Given the description of an element on the screen output the (x, y) to click on. 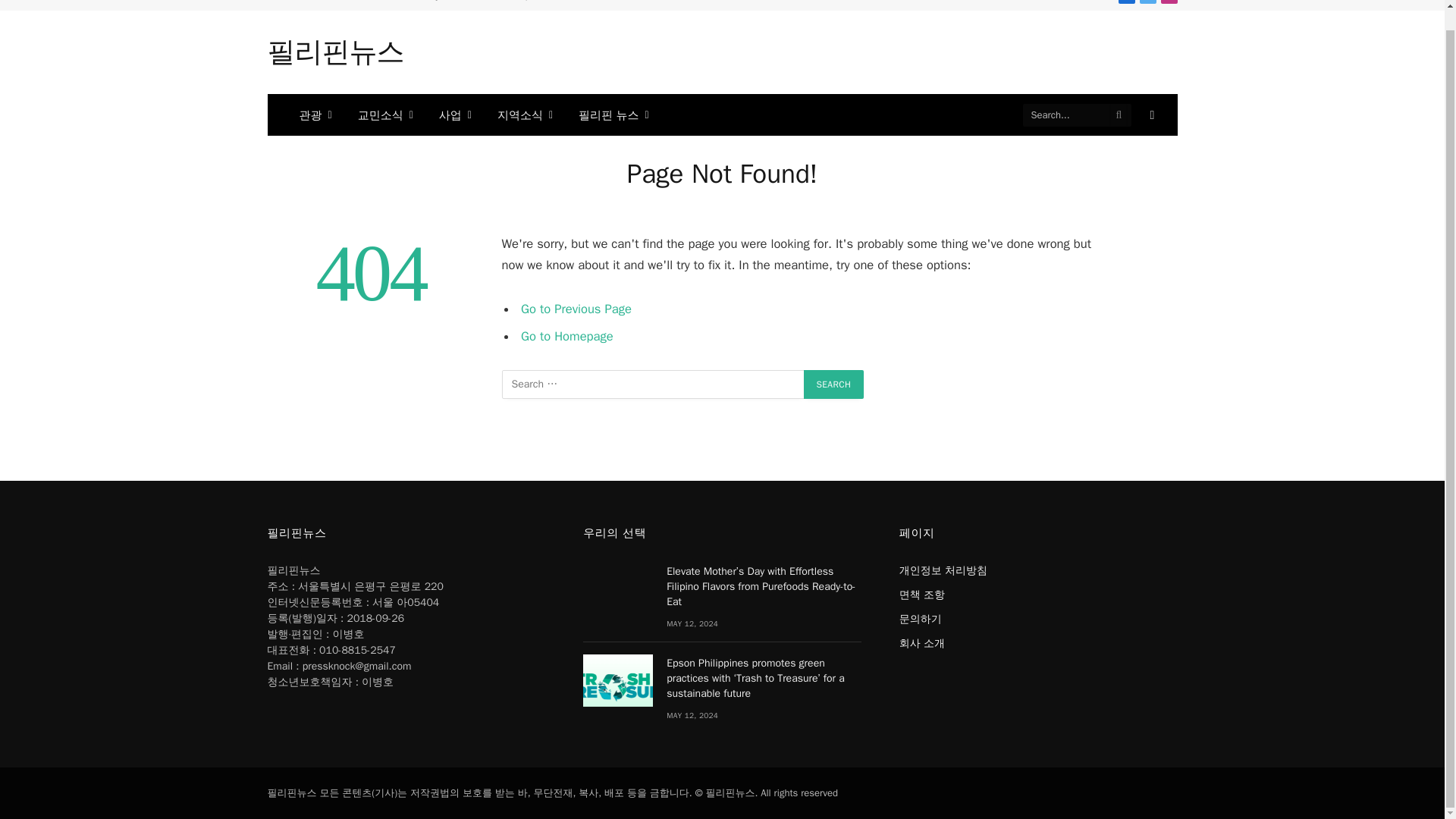
Search (833, 384)
Instagram (1168, 2)
Facebook (1126, 2)
Switch to Dark Design - easier on eyes. (1149, 114)
Search (833, 384)
